Given the description of an element on the screen output the (x, y) to click on. 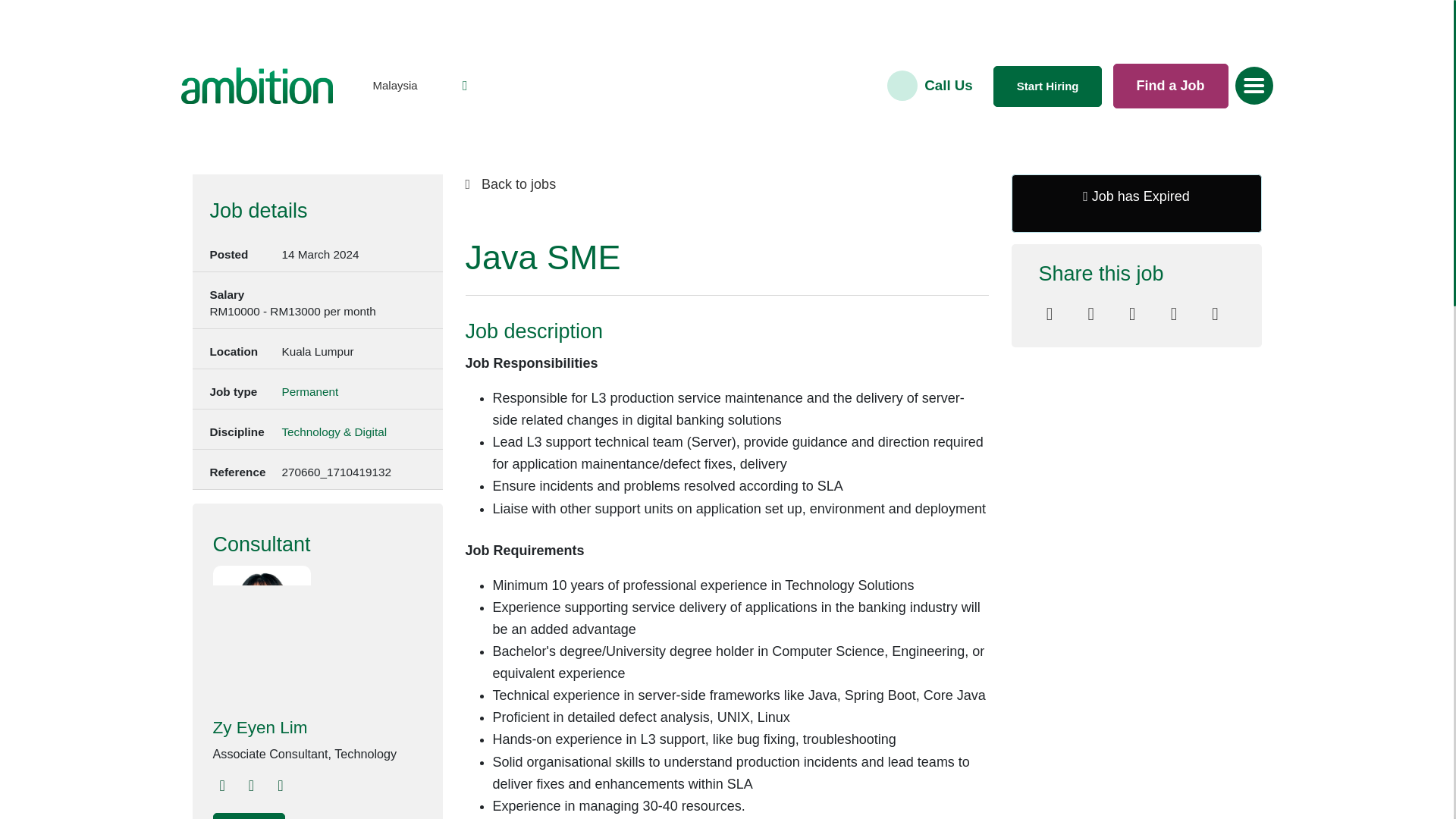
Back to jobs (726, 184)
Permanent (309, 392)
Find a Job (1170, 85)
Call Us (948, 85)
View Jobs (247, 816)
Start Hiring (1047, 86)
Zy Eyen Lim (304, 727)
